Given the description of an element on the screen output the (x, y) to click on. 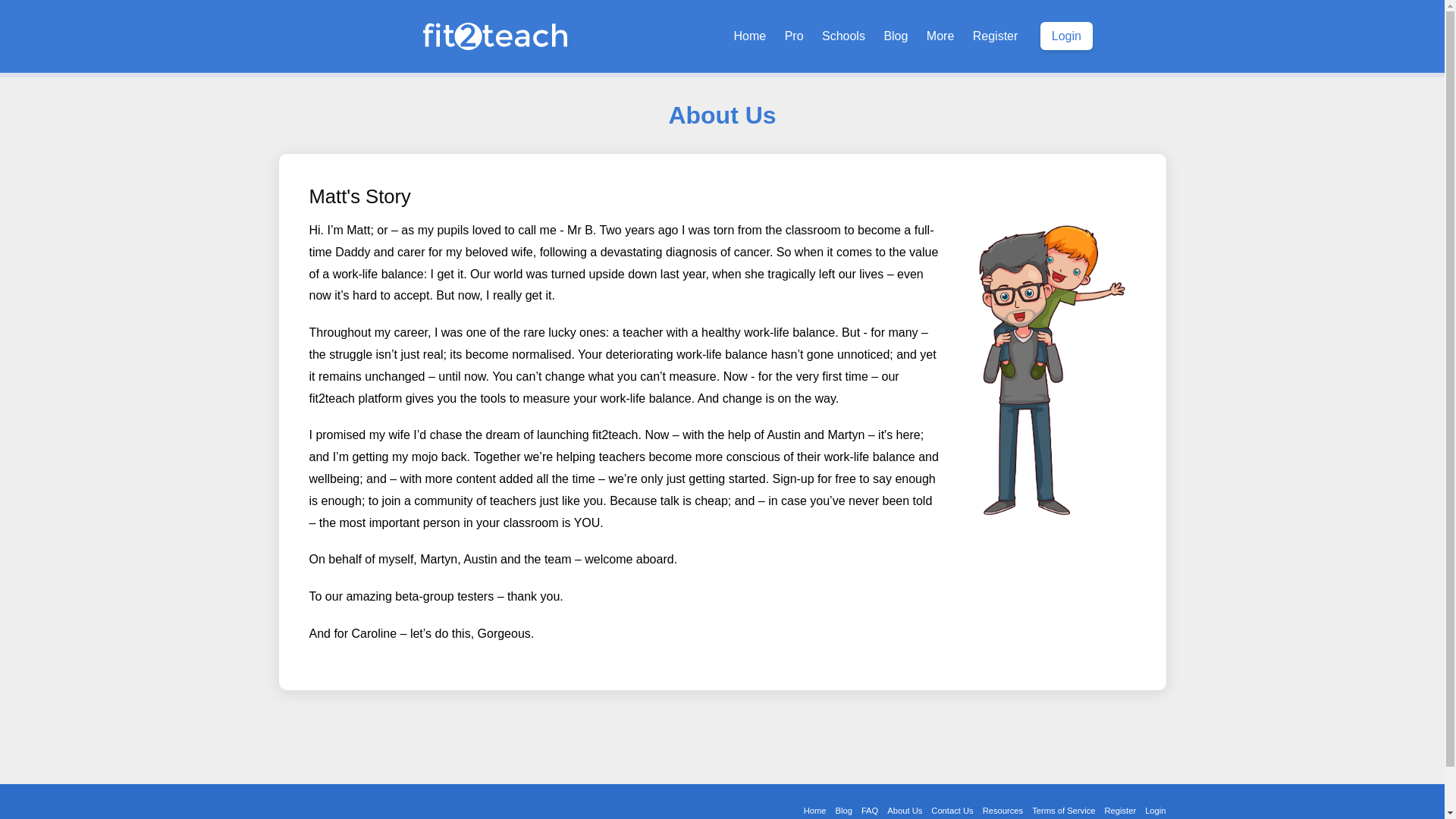
Contact Us (951, 809)
Pro (793, 35)
Blog (895, 35)
Login (1153, 809)
Register (995, 35)
Login (1067, 35)
Schools (842, 35)
About Us (904, 809)
Blog (842, 809)
Register (1119, 809)
FAQ (869, 809)
More (939, 35)
Home (750, 35)
Terms of Service (1063, 809)
Home (815, 809)
